Given the description of an element on the screen output the (x, y) to click on. 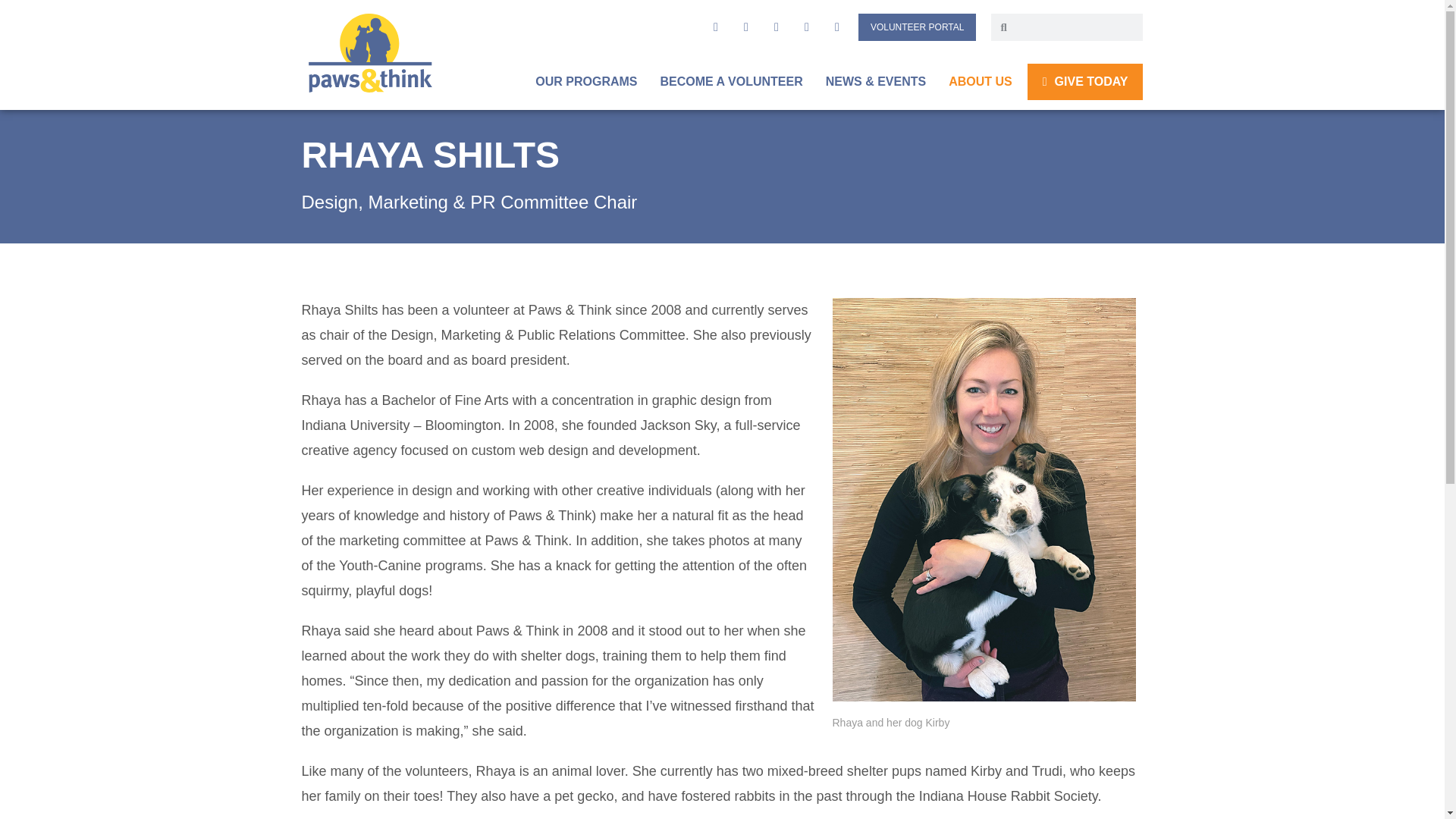
VOLUNTEER PORTAL (917, 26)
OUR PROGRAMS (586, 81)
ABOUT US (980, 81)
BECOME A VOLUNTEER (731, 81)
